Given the description of an element on the screen output the (x, y) to click on. 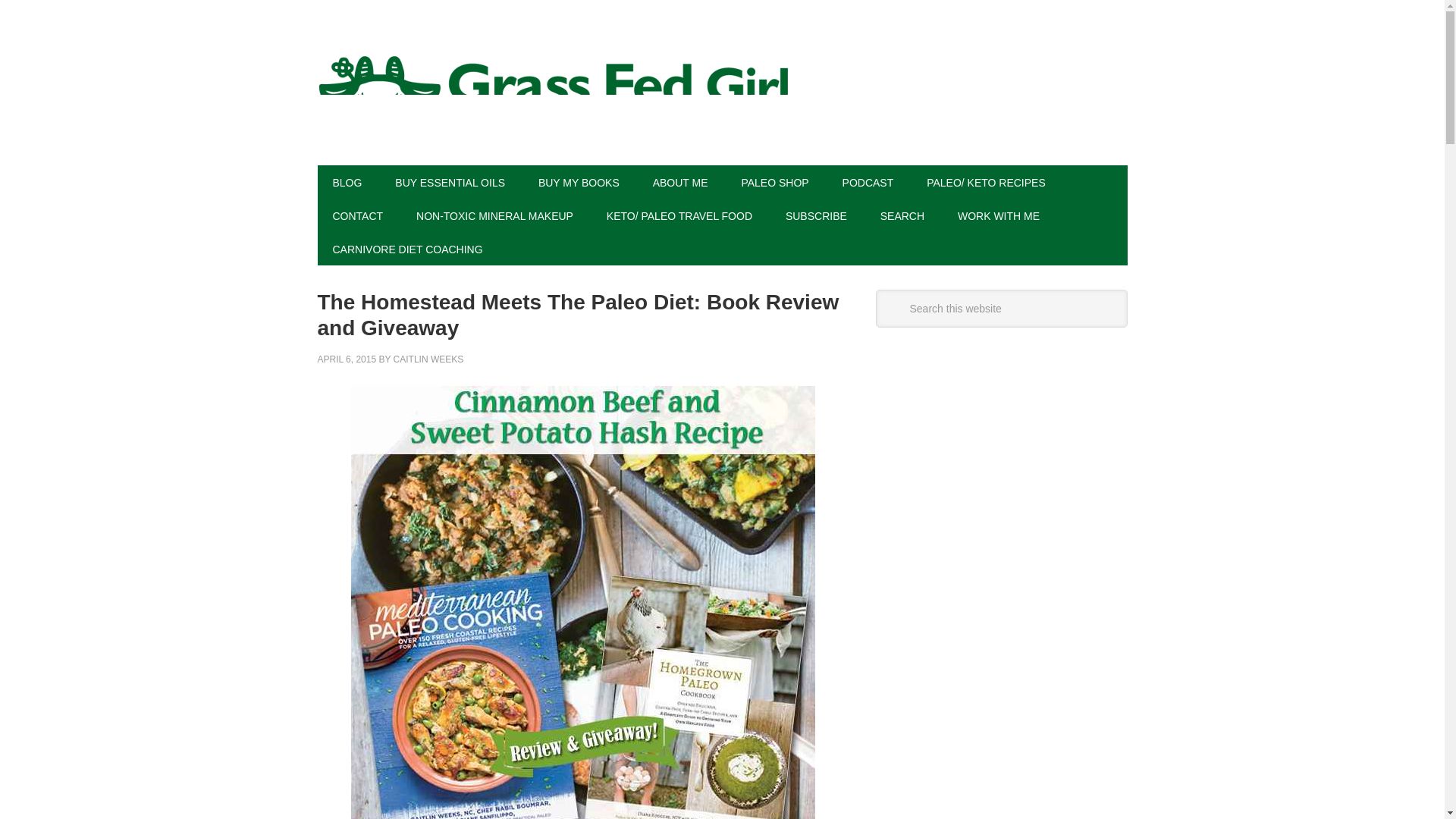
PODCAST (867, 182)
Where to Buy Paleo Foods Online (774, 182)
NON-TOXIC MINERAL MAKEUP (494, 215)
GRASS FED GIRL (721, 102)
BUY MY BOOKS (578, 182)
ABOUT ME (680, 182)
BLOG (347, 182)
BUY ESSENTIAL OILS (449, 182)
PALEO SHOP (774, 182)
